Given the description of an element on the screen output the (x, y) to click on. 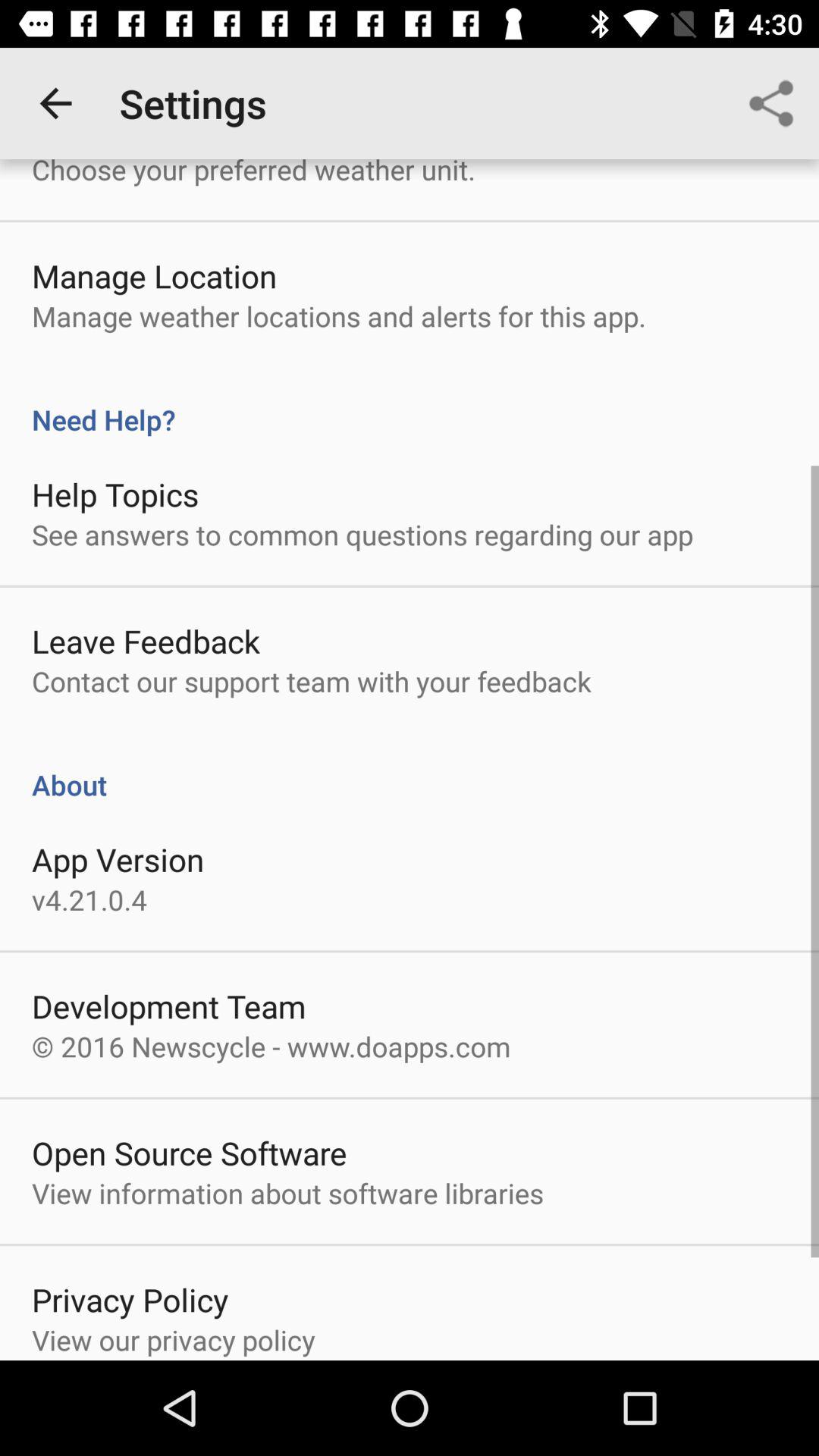
tap the item below 2016 newscycle www (188, 1152)
